Given the description of an element on the screen output the (x, y) to click on. 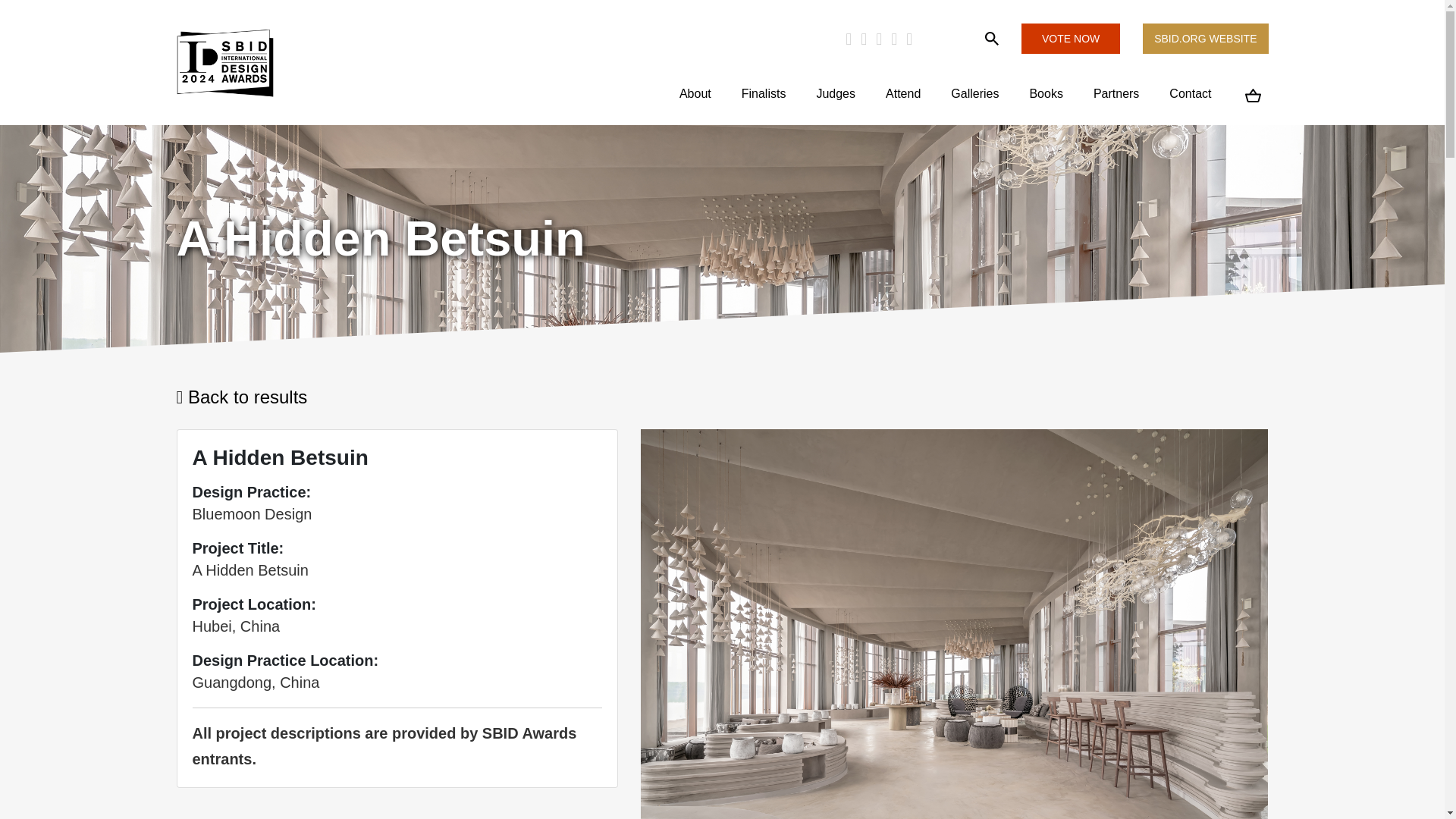
Galleries (975, 94)
Contact (1190, 94)
Judges (835, 94)
Galleries (975, 94)
SBID.ORG WEBSITE (1205, 37)
Finalists (764, 94)
About (694, 94)
Judges (835, 94)
About (694, 94)
Attend (903, 94)
